Given the description of an element on the screen output the (x, y) to click on. 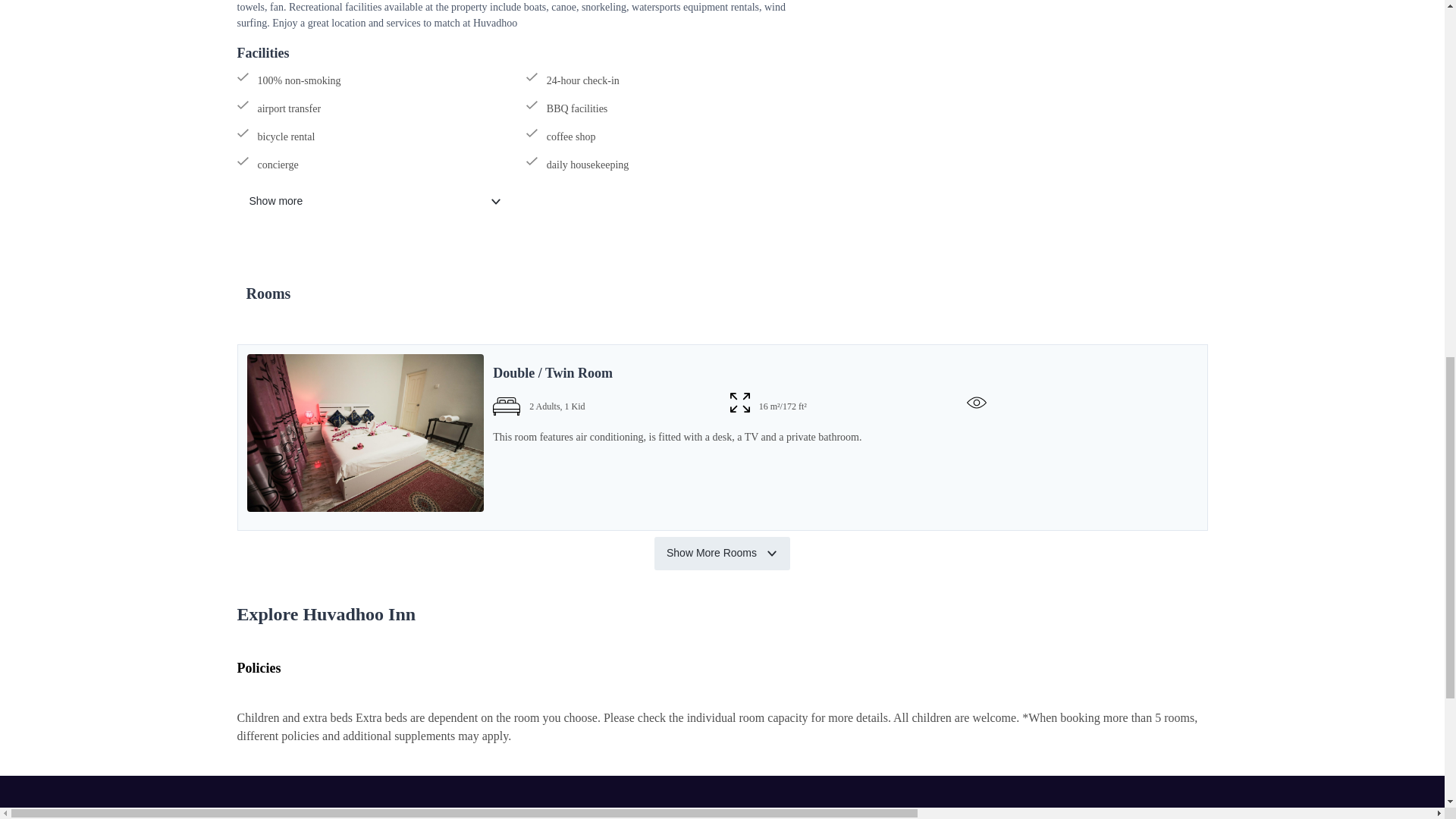
Show More Rooms (721, 553)
Show more (374, 201)
